Given the description of an element on the screen output the (x, y) to click on. 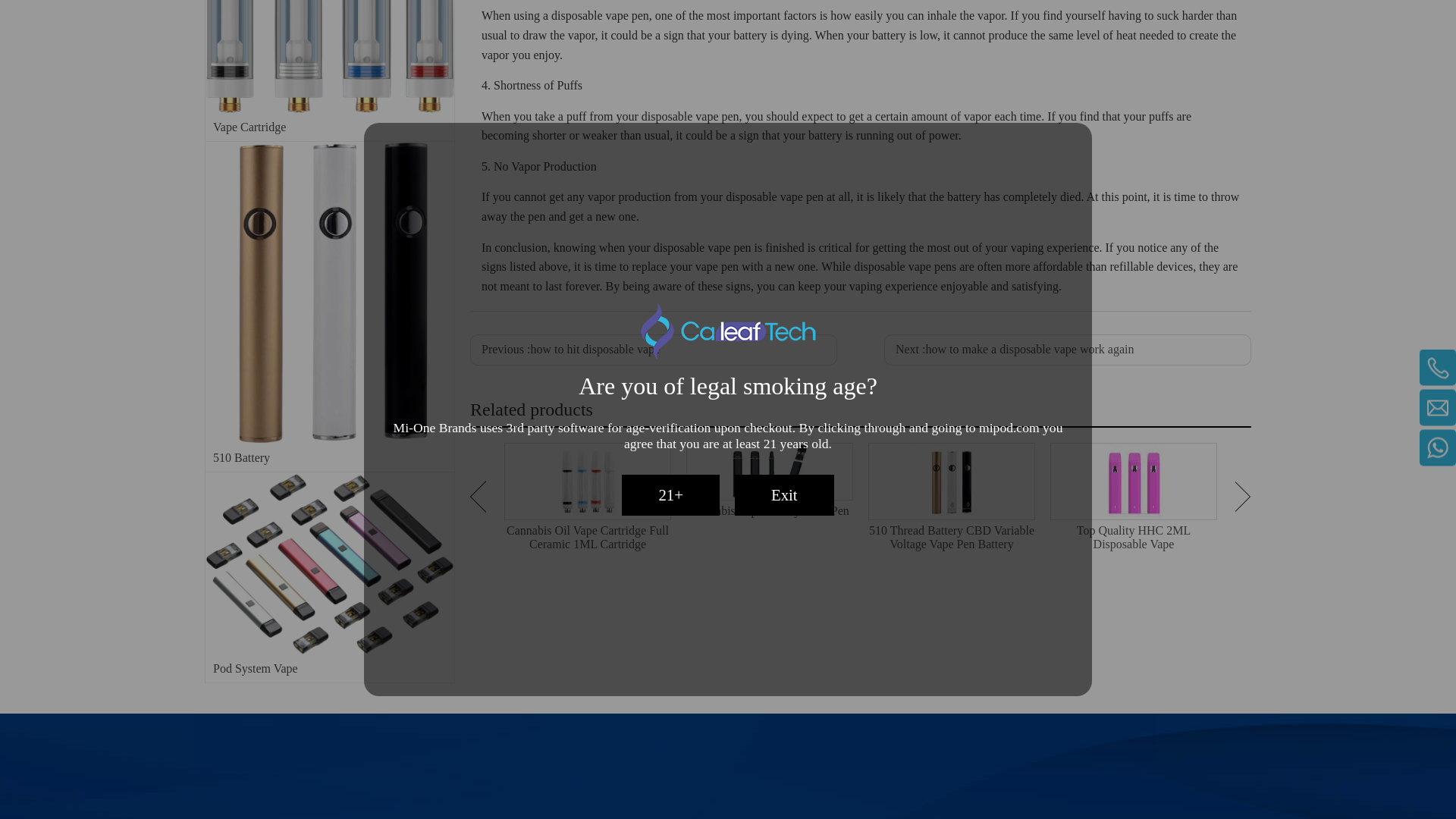
Vape Cartridge (329, 56)
